Given the description of an element on the screen output the (x, y) to click on. 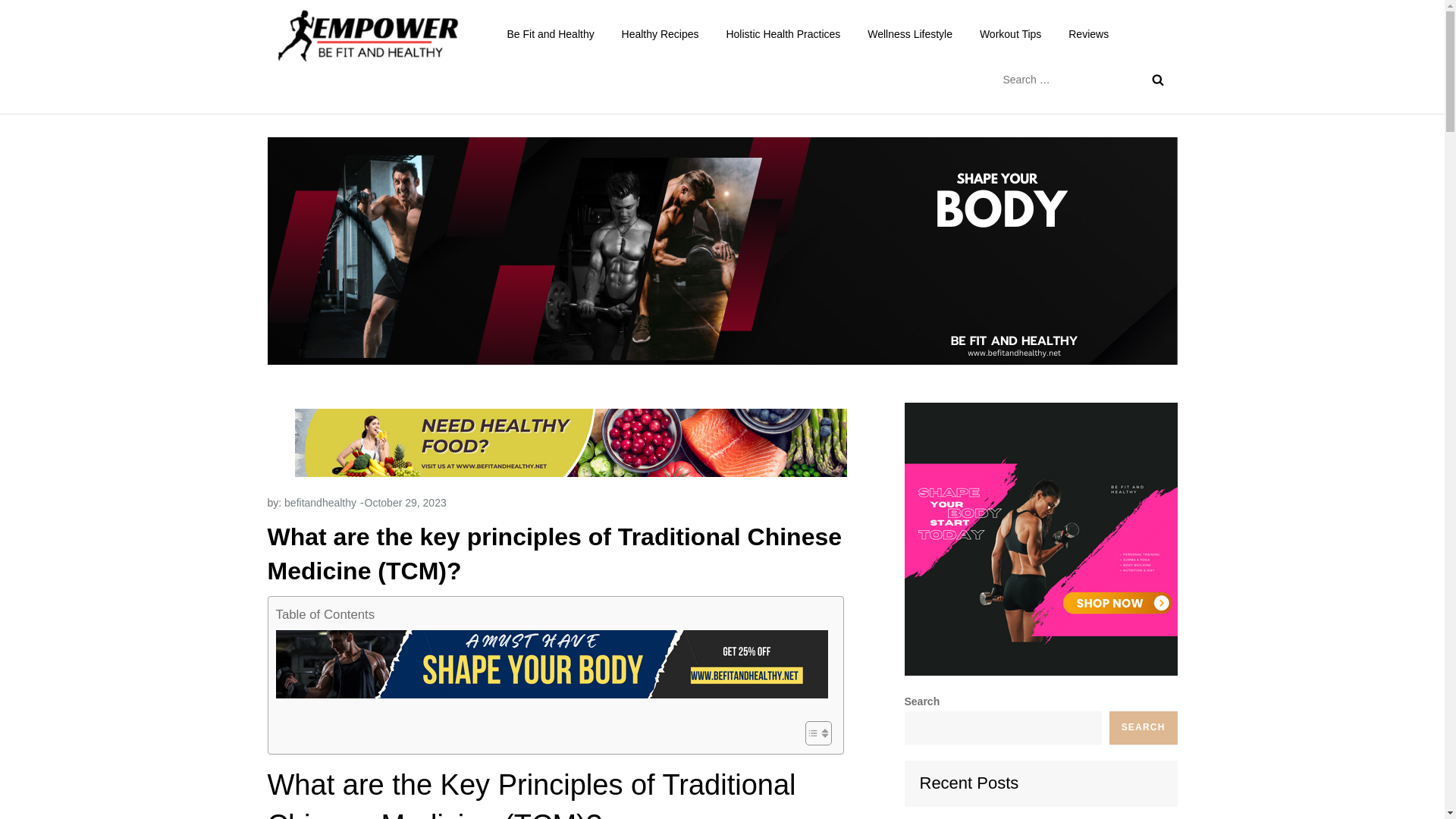
Healthy Recipes (660, 33)
Workout Tips (1010, 33)
Wellness Lifestyle (909, 33)
Reviews (1089, 33)
Be Fit and Healthy (594, 49)
October 29, 2023 (405, 502)
Be Fit and Healthy (550, 33)
Holistic Health Practices (782, 33)
befitandhealthy (319, 502)
